Given the description of an element on the screen output the (x, y) to click on. 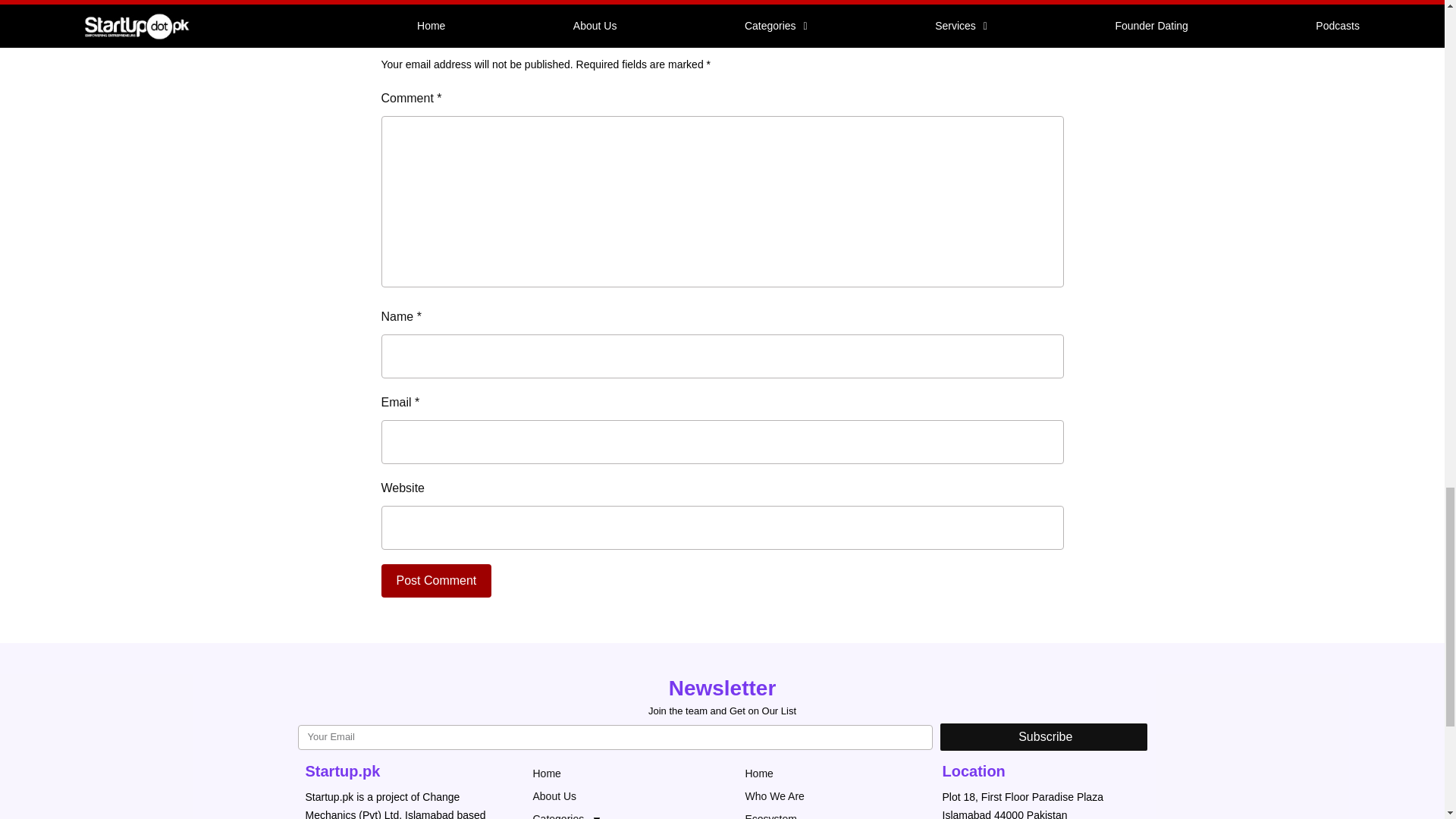
Post Comment (436, 580)
